Given the description of an element on the screen output the (x, y) to click on. 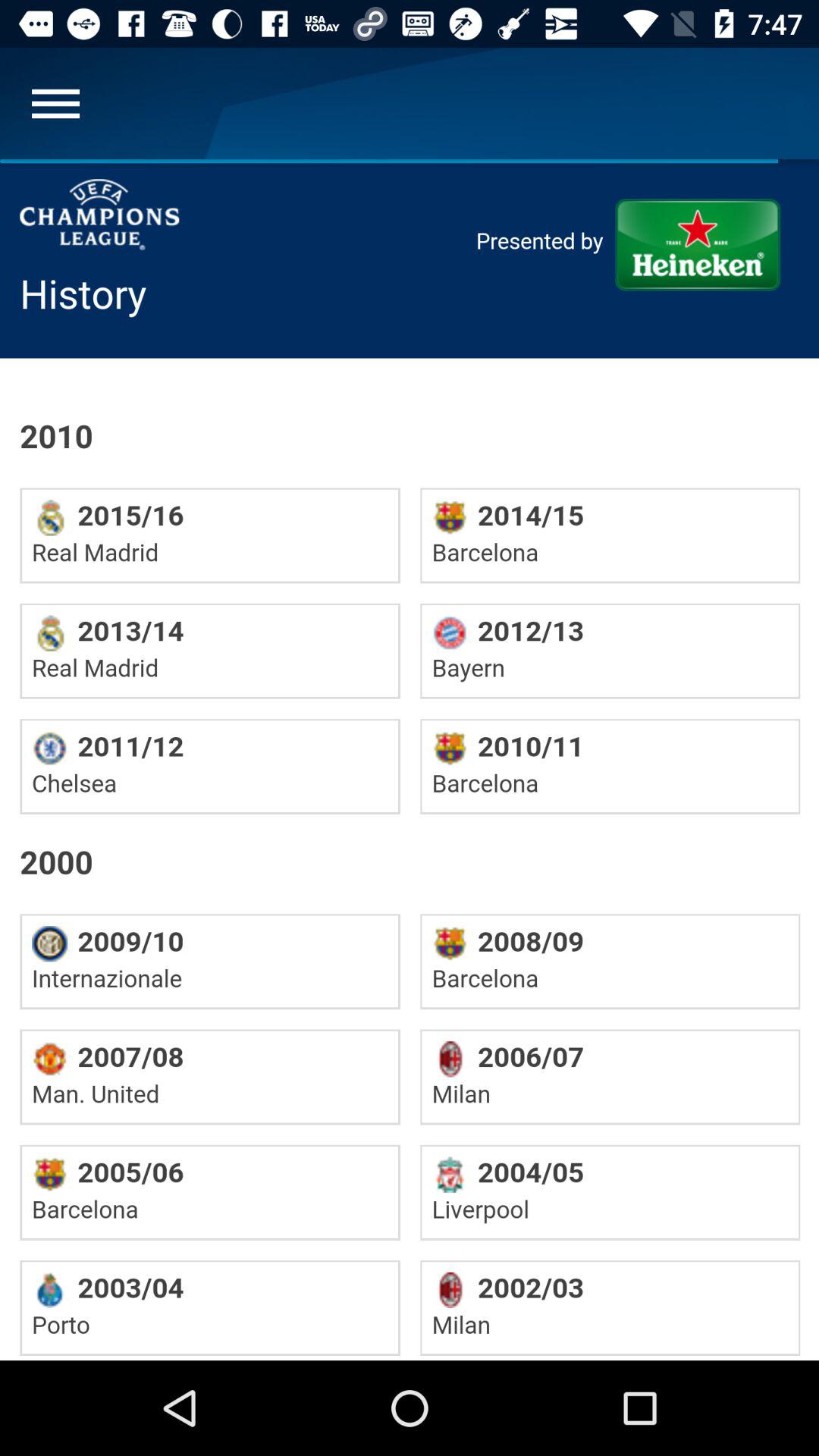
menu button (55, 103)
